Given the description of an element on the screen output the (x, y) to click on. 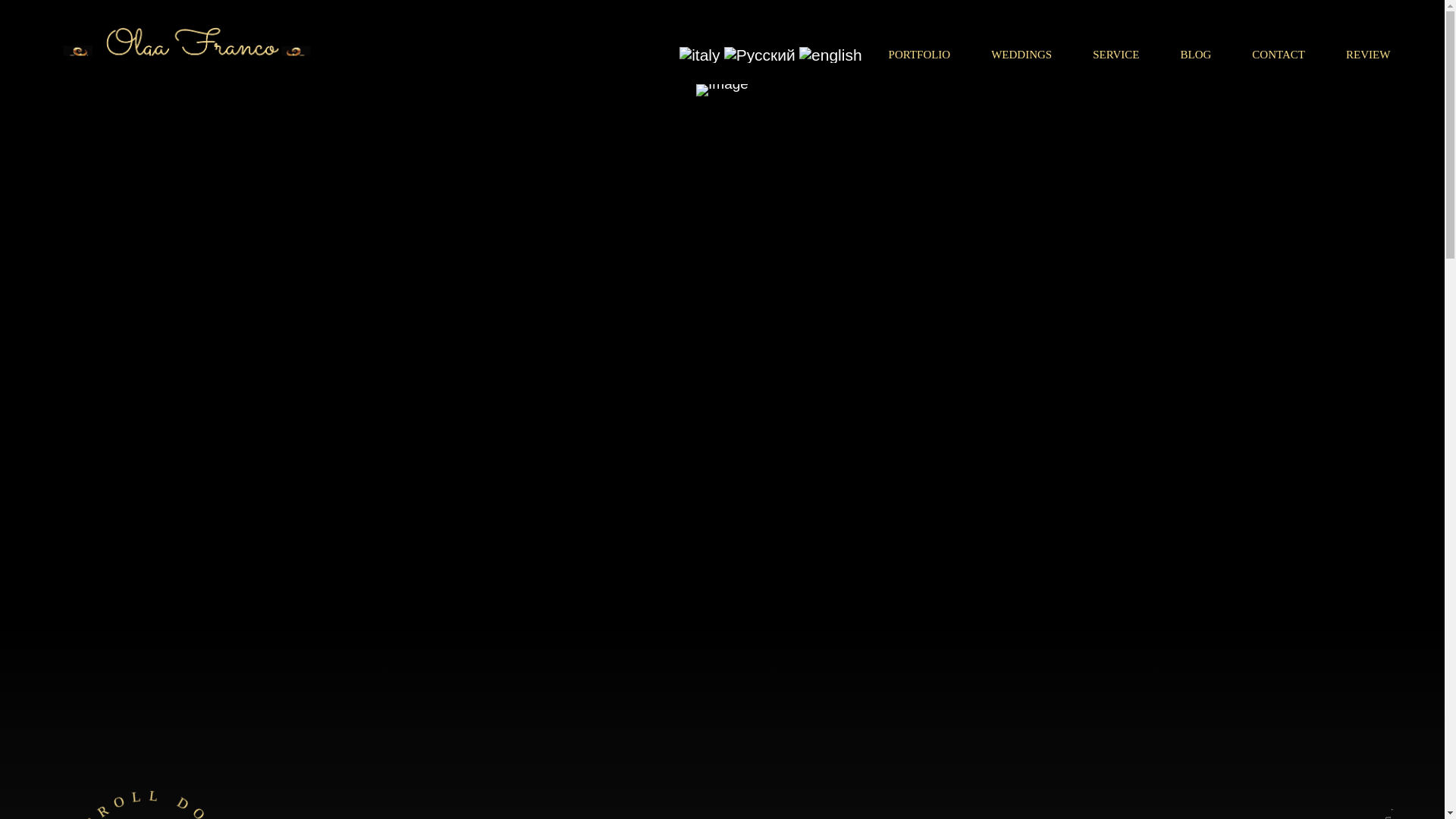
SCROLL DOWN - SCROLL DOWN - (147, 775)
CONTACT (1277, 55)
SCROLL DOWN - SCROLL DOWN - (149, 792)
wedding photographer in italy (758, 54)
PORTFOLIO (920, 55)
SERVICE (1115, 55)
REVIEW (1367, 55)
SCROLL DOWN - SCROLL DOWN - (149, 792)
logo (187, 52)
wedding photographer in italy (830, 54)
